Given the description of an element on the screen output the (x, y) to click on. 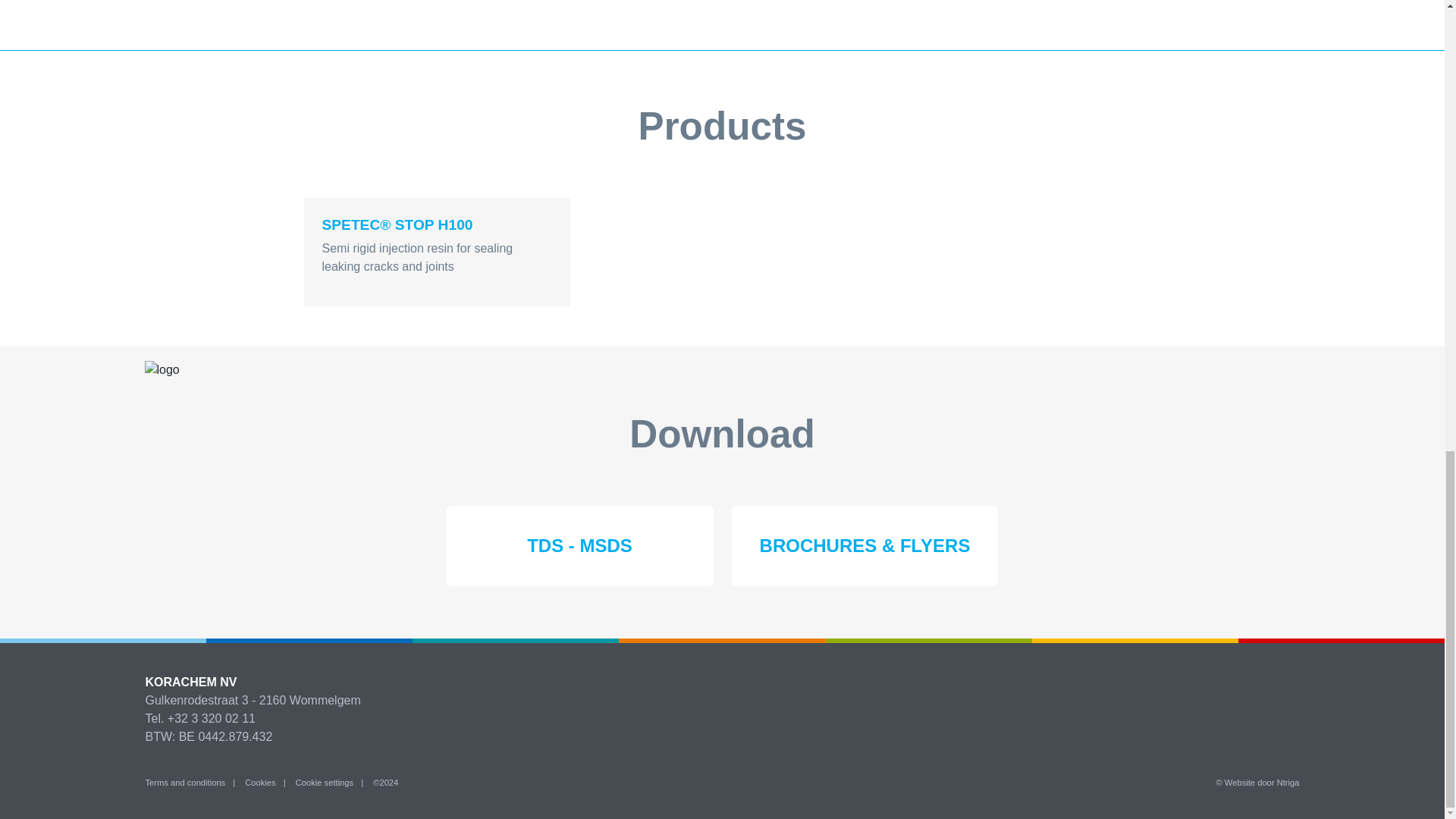
Cookies (259, 782)
Terms and conditions (185, 782)
TDS - MSDS (579, 546)
Cookie settings (324, 782)
